Given the description of an element on the screen output the (x, y) to click on. 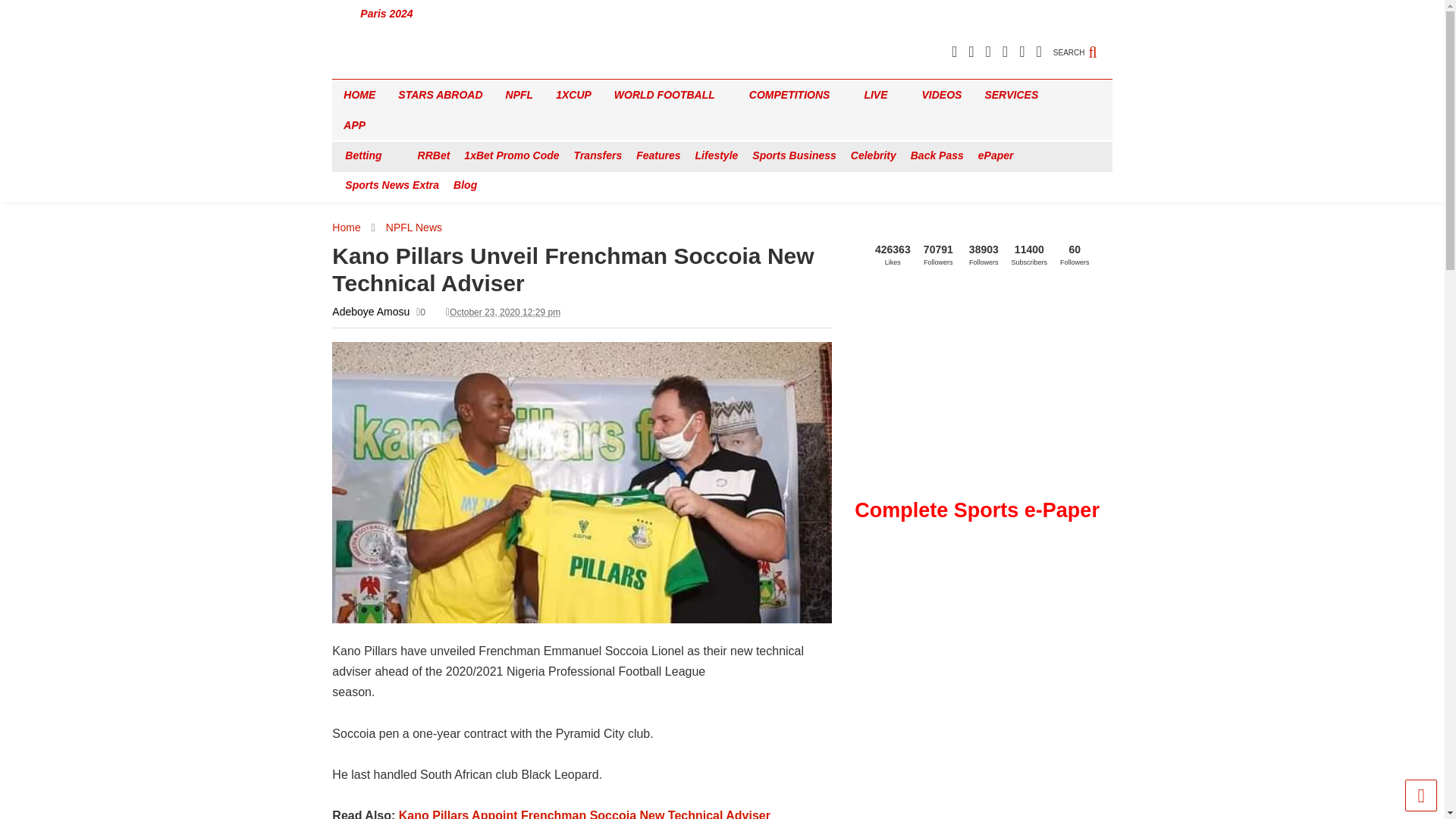
HOME (359, 94)
October 23, 2020 12:41 pm (504, 312)
COMPETITIONS (795, 94)
Adeboye Amosu (370, 311)
LIVE (880, 94)
VIDEOS (942, 94)
SEARCH (1082, 44)
1XCUP (573, 94)
Complete Sports (383, 66)
